Given the description of an element on the screen output the (x, y) to click on. 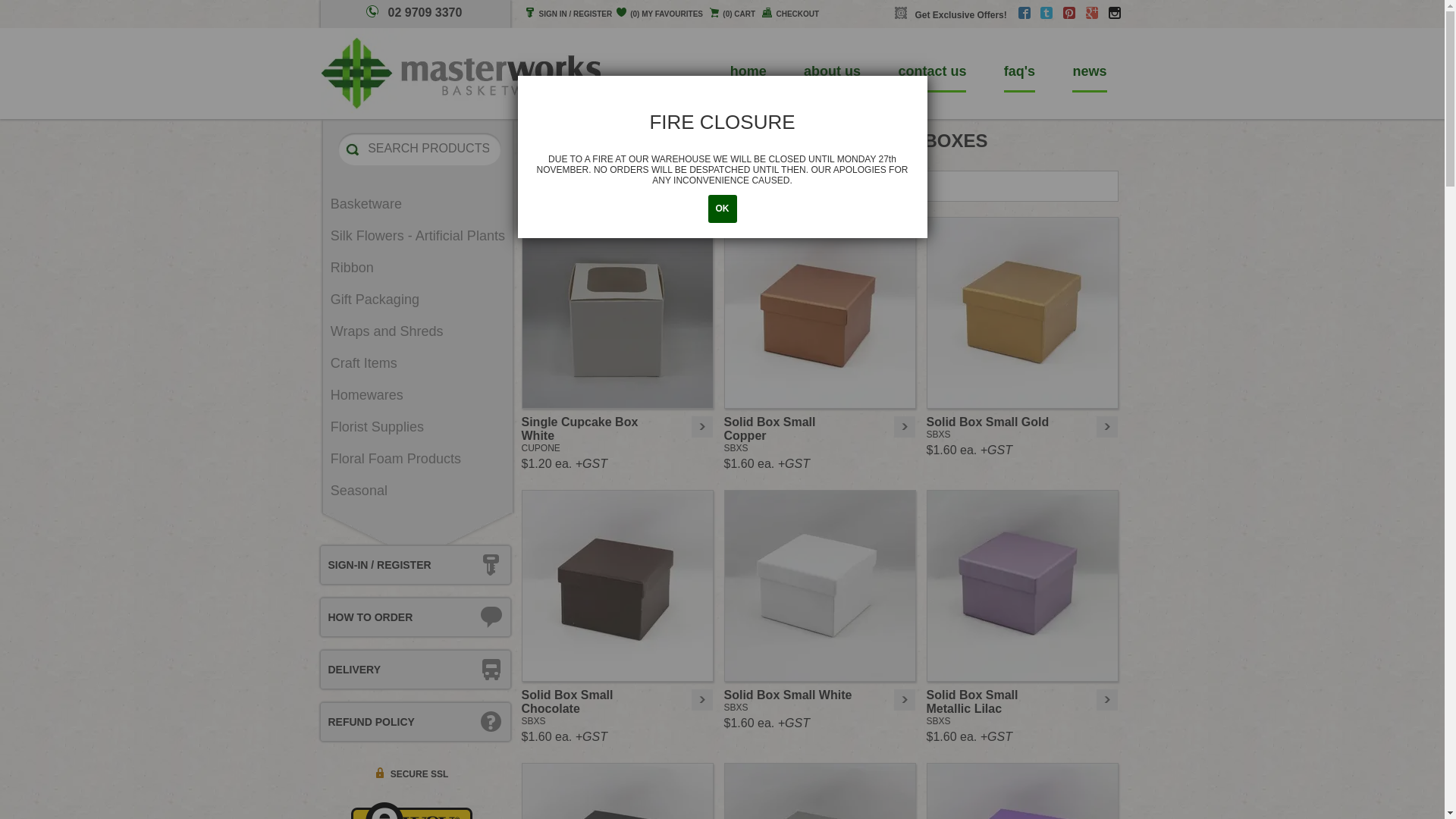
Home Element type: text (531, 157)
Silk Flowers - Artificial Plants Element type: text (413, 236)
REFUND POLICY Element type: text (414, 721)
Gift Packaging Element type: text (573, 157)
Solid Box Small Chocolate Element type: hover (622, 585)
Checkout Element type: hover (790, 13)
Solid Box Small Chocolate Element type: hover (616, 585)
DELIVERY Element type: text (414, 669)
Floral Foam Products Element type: text (413, 459)
Masterworks Basketwars Element type: hover (462, 71)
Solid Box Small Gold Element type: hover (1021, 312)
Sign-In / Register Element type: hover (568, 13)
news Element type: text (1089, 72)
Homewares Element type: text (413, 395)
Cardboard Boxes Element type: text (634, 157)
Basketware Element type: text (413, 204)
home Element type: text (748, 72)
HOW TO ORDER Element type: text (414, 617)
Single Cupcake Box White Element type: hover (622, 312)
0 Element type: text (659, 13)
SIGN-IN / REGISTER Element type: text (414, 564)
Wraps and Shreds Element type: text (413, 331)
Solid Box Small Copper Element type: hover (824, 312)
Single Cupcake Box White Element type: hover (616, 312)
SECURE SSL Element type: text (407, 774)
Craft Items Element type: text (413, 363)
Solid Box Small Gold Element type: hover (1027, 312)
Solid Box Small White Element type: hover (819, 585)
OK Element type: text (722, 208)
Seasonal Element type: text (413, 490)
Go Element type: text (352, 149)
Solid Box Small White Element type: hover (824, 585)
Gift Packaging Element type: text (413, 299)
0 Element type: text (732, 13)
faq's Element type: text (1019, 72)
Ribbon Element type: text (413, 268)
about us Element type: text (831, 72)
contact us Element type: text (931, 72)
Solid Box Small Copper Element type: hover (819, 312)
Solid Box Small Metallic Lilac Element type: hover (1021, 585)
Cake, Chocolate, And Confectionery Boxes Element type: text (743, 157)
Solid Box Small Metallic Lilac Element type: hover (1027, 585)
Get Exclusive Offers! Element type: text (954, 13)
Florist Supplies Element type: text (413, 427)
